Given the description of an element on the screen output the (x, y) to click on. 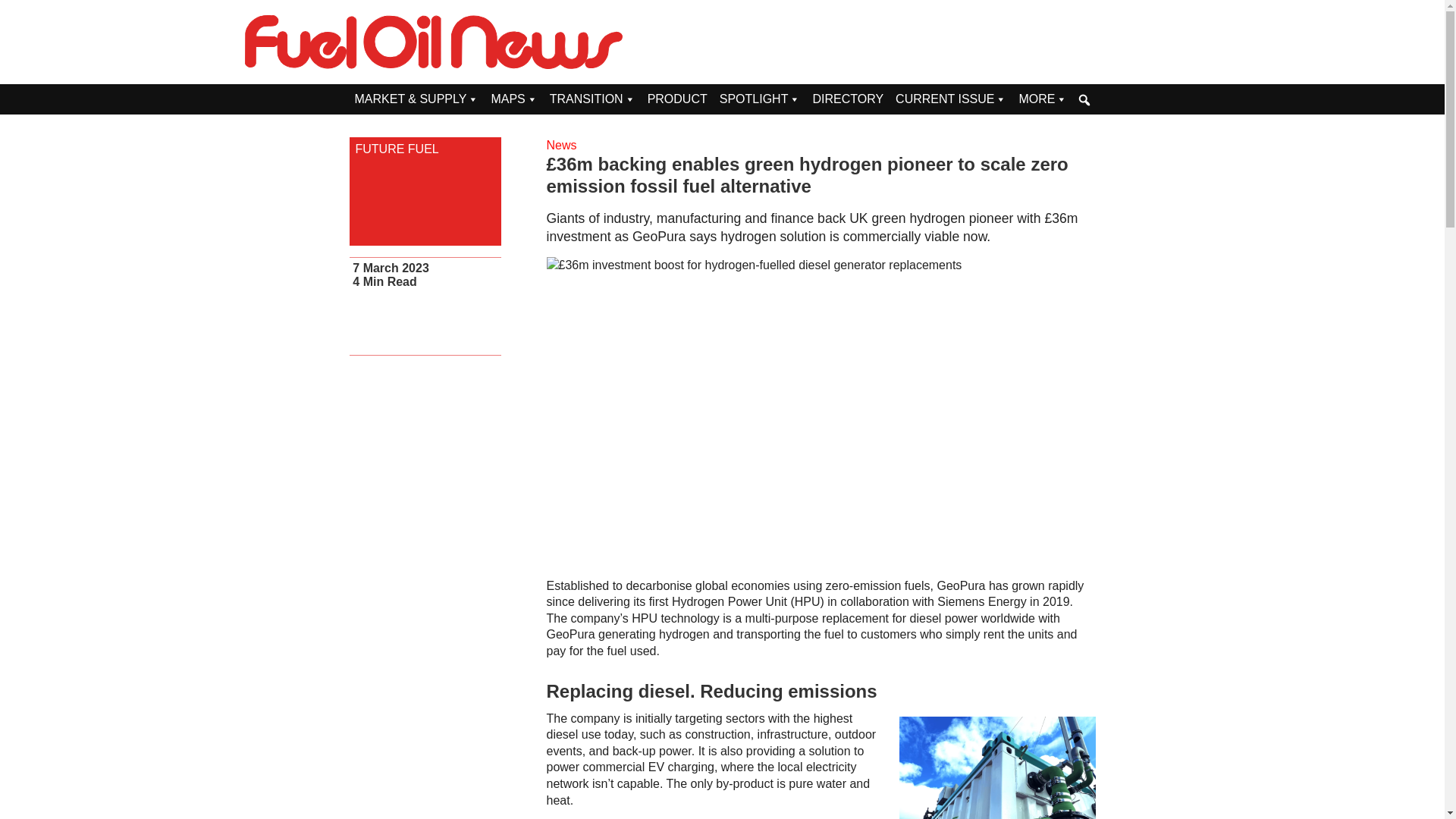
PRODUCT (677, 99)
DIRECTORY (847, 99)
MORE (1042, 99)
Search (11, 9)
MAPS (513, 99)
CURRENT ISSUE (950, 99)
FUTURE FUEL (424, 149)
link to home page (433, 41)
SPOTLIGHT (759, 99)
TRANSITION (592, 99)
